Given the description of an element on the screen output the (x, y) to click on. 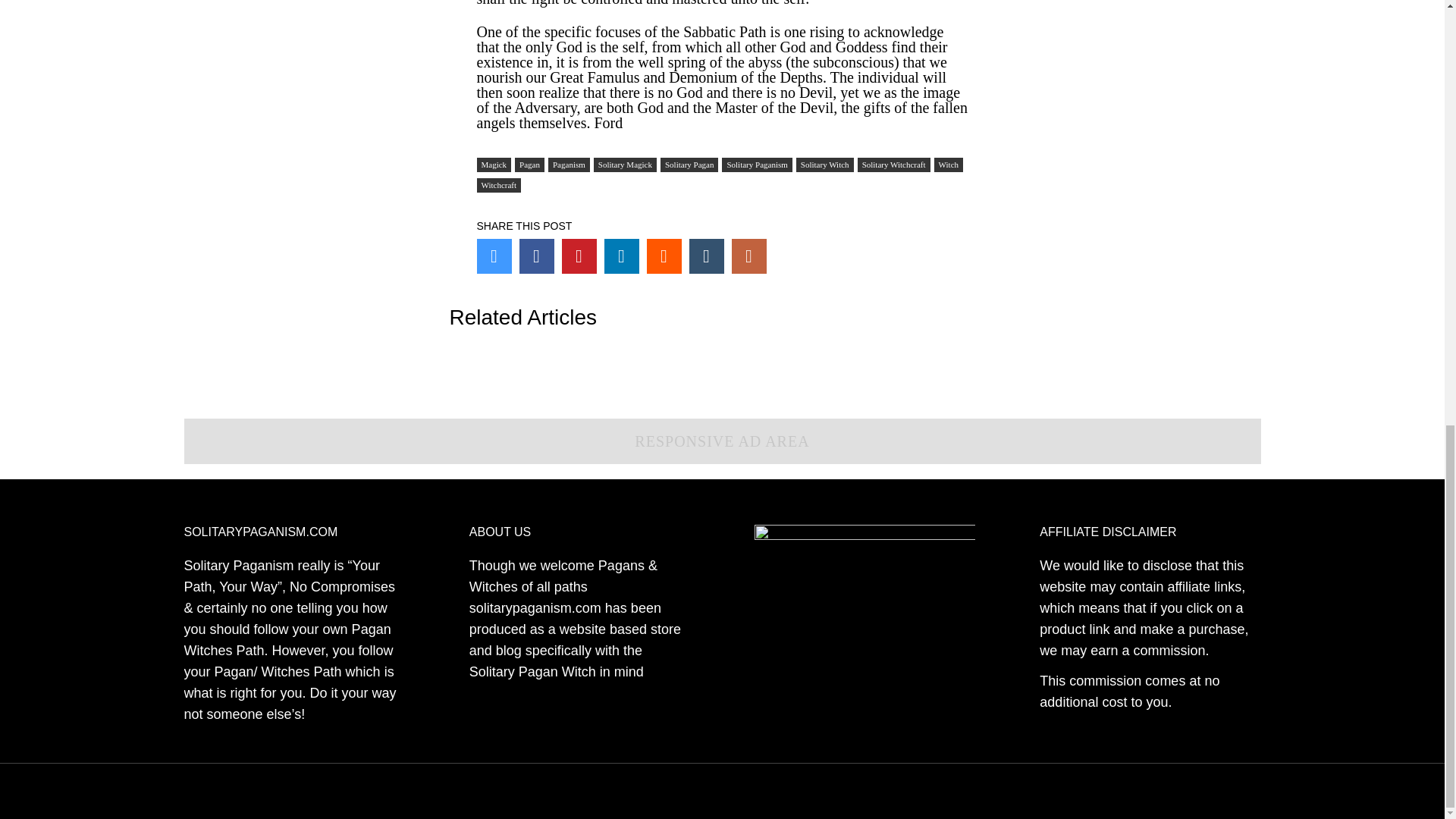
LinkedIn (621, 256)
Reddit (663, 256)
Tumblr (705, 256)
Pinterest (577, 256)
Facebook (535, 256)
Email (747, 256)
Twitter (493, 256)
